Given the description of an element on the screen output the (x, y) to click on. 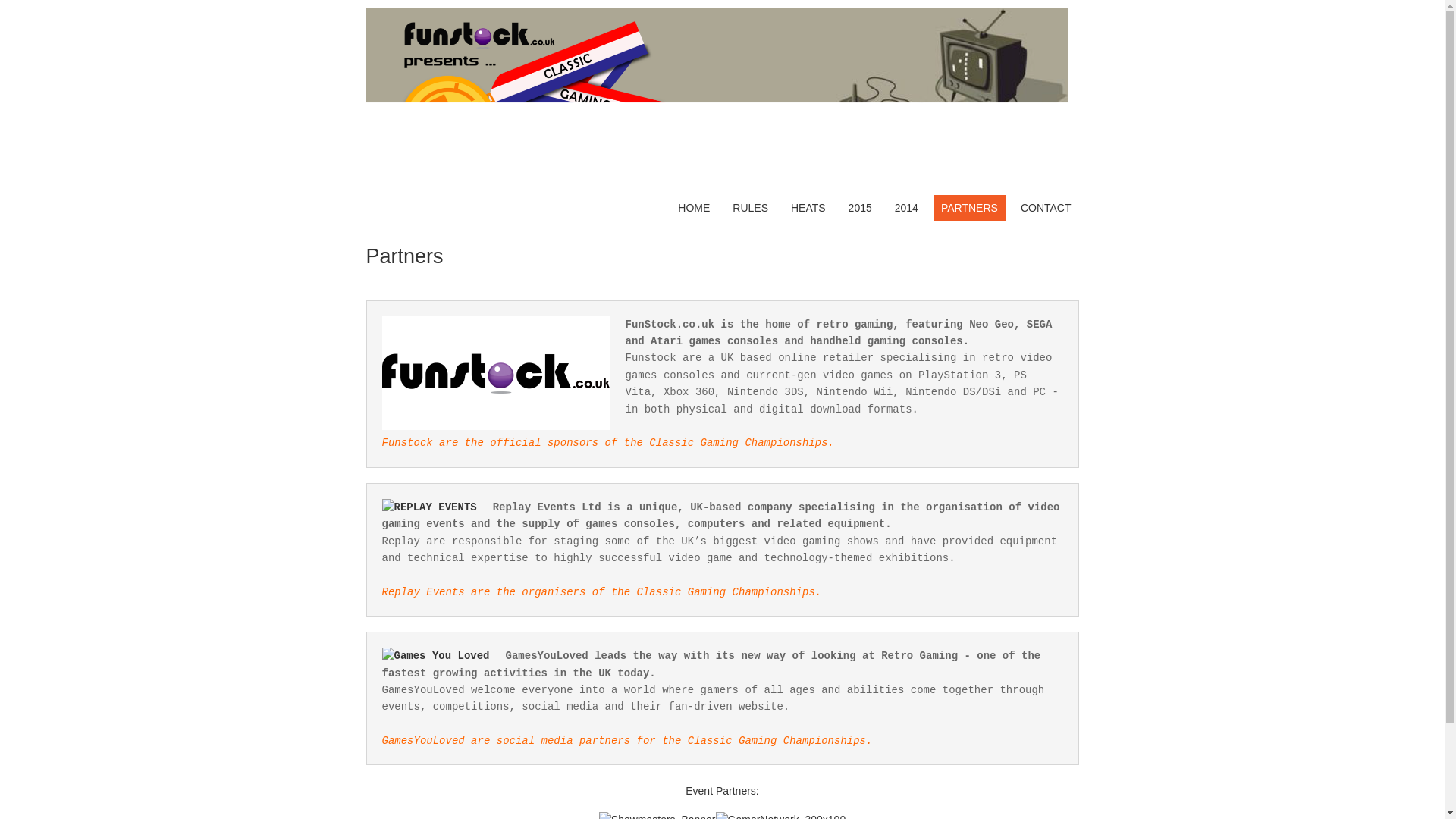
RULES (750, 207)
HEATS (807, 207)
2014 (906, 207)
HOME (693, 207)
2015 (860, 207)
The UK's only national tournament for retro gamers! (716, 178)
